Given the description of an element on the screen output the (x, y) to click on. 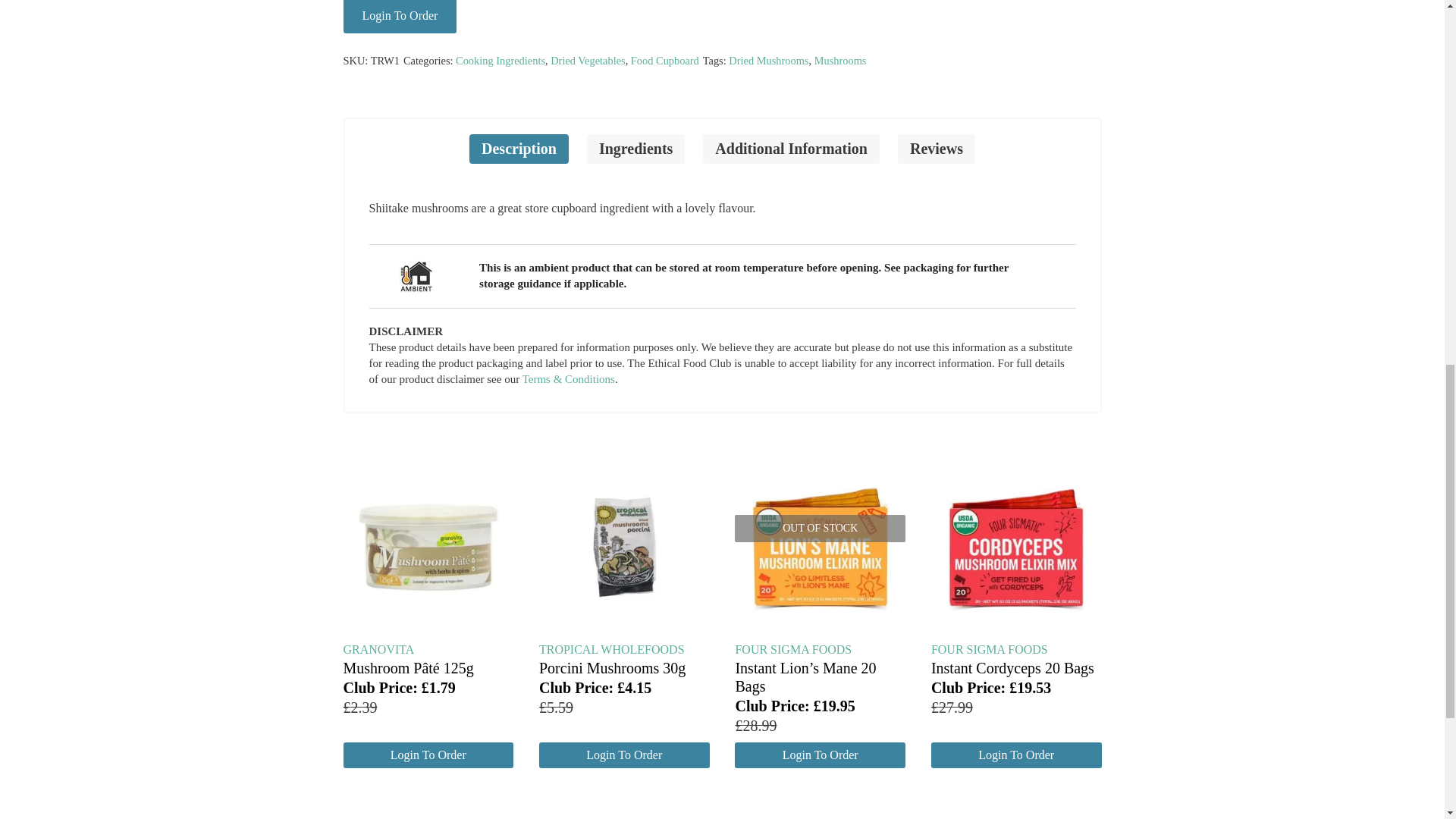
Ingredients (635, 148)
Mushrooms (839, 60)
Additional Information (791, 148)
Login To Order (399, 16)
Dried Vegetables (587, 60)
Food Cupboard (664, 60)
Dried Mushrooms (768, 60)
Cooking Ingredients (499, 60)
Description (518, 148)
